Given the description of an element on the screen output the (x, y) to click on. 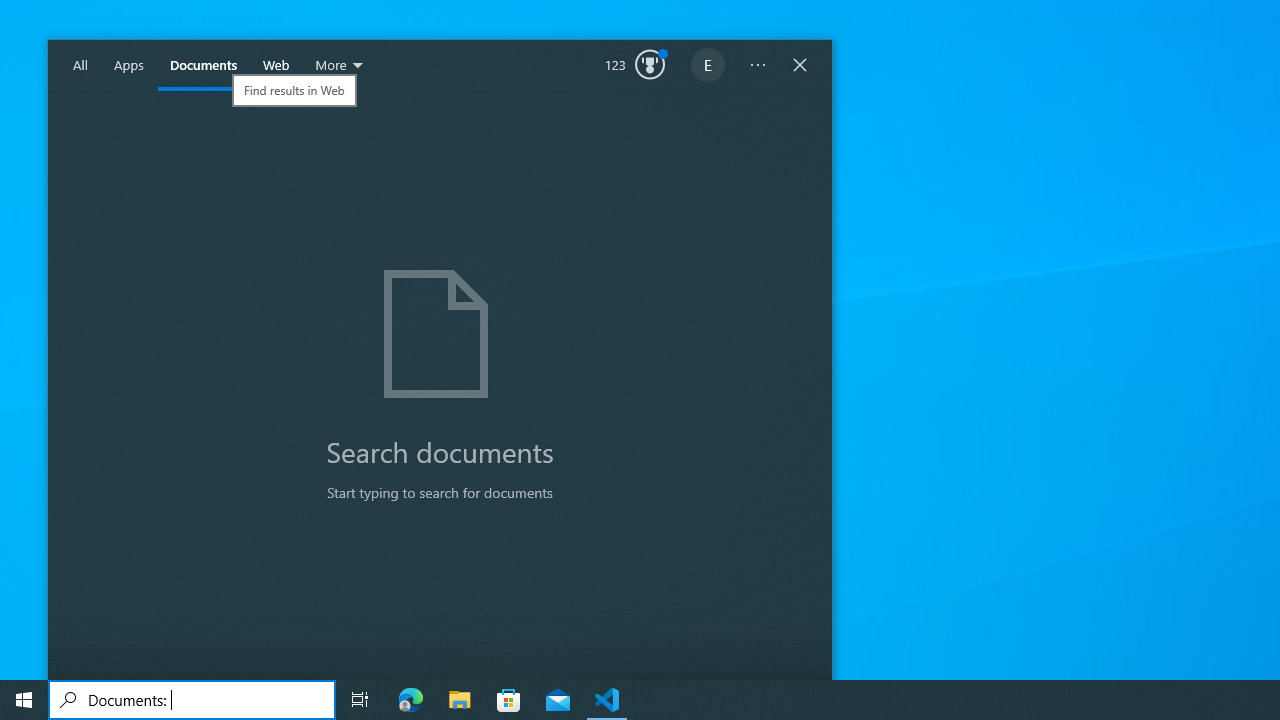
Microsoft Rewards balance: 123 (635, 65)
EugeneLedger601@outlook.com (707, 65)
Apps (129, 65)
Documents (203, 65)
Close Windows Search (799, 65)
All (80, 65)
Start (24, 699)
Search box (191, 699)
Web (276, 65)
Find results in Web (294, 90)
More (340, 65)
Options (758, 65)
